Given the description of an element on the screen output the (x, y) to click on. 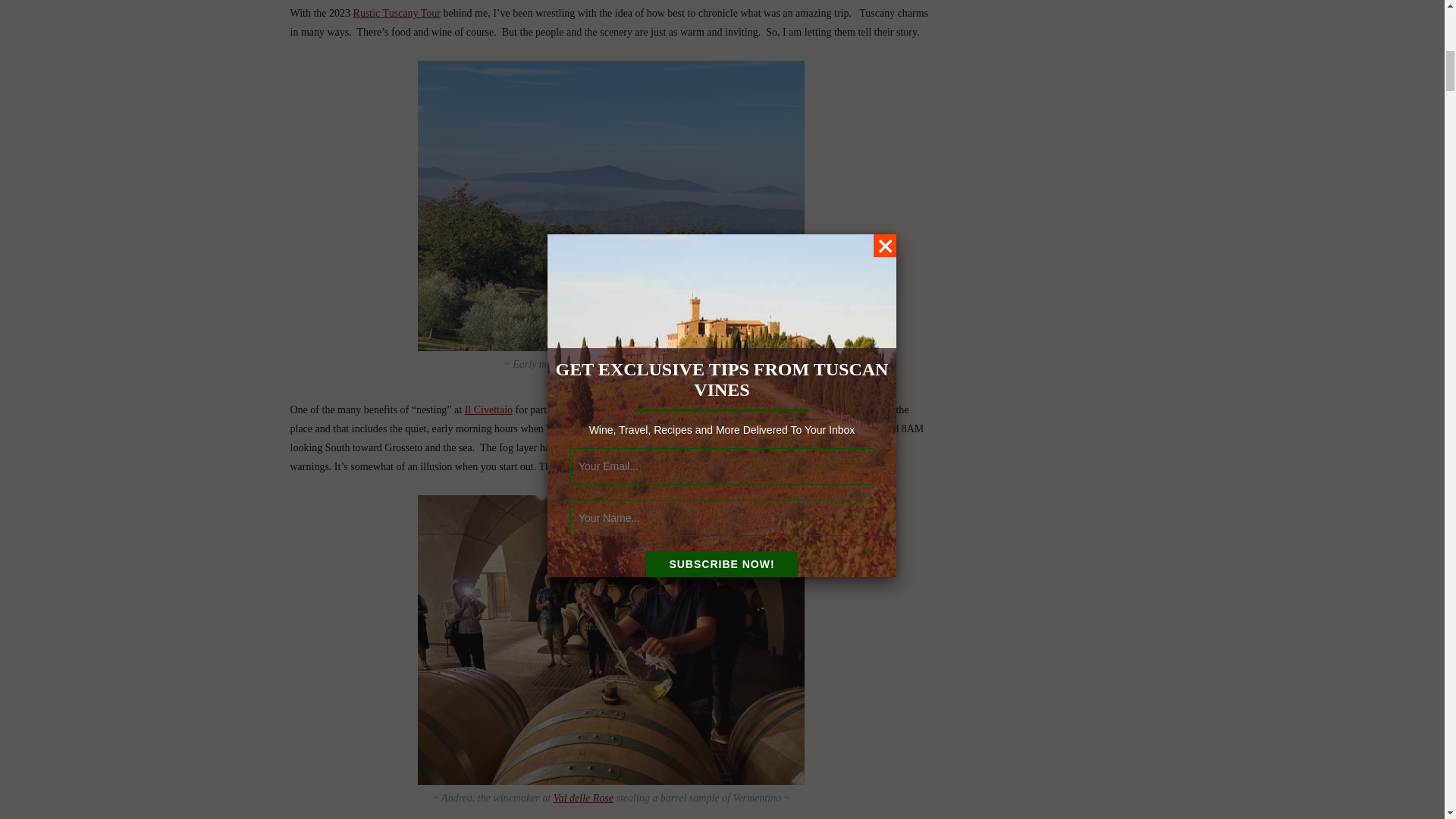
Rustic Tuscany Tour (397, 12)
Il Civettaio (488, 409)
Val delle Rose (582, 797)
